Given the description of an element on the screen output the (x, y) to click on. 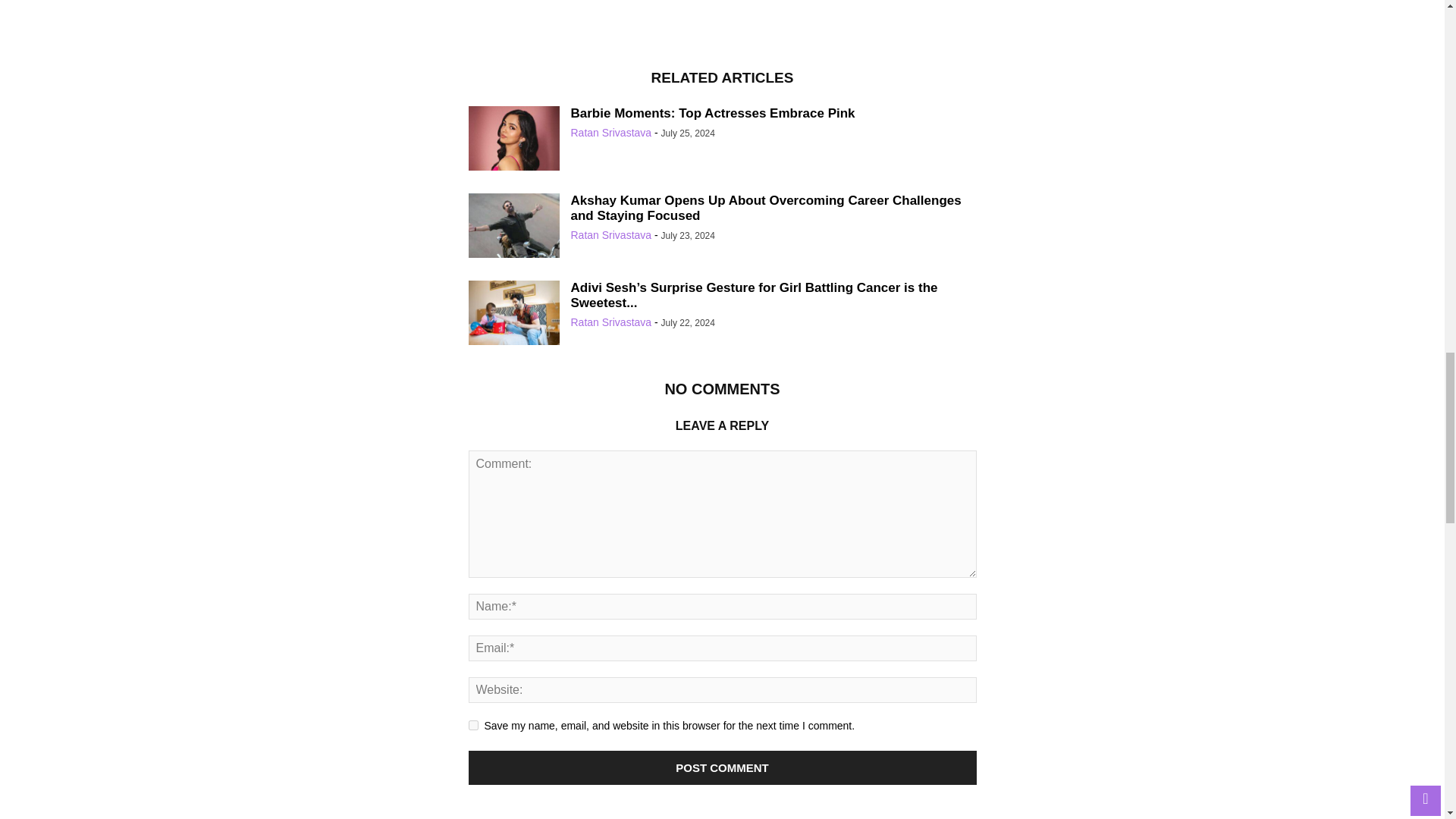
3rd party ad content (722, 24)
Barbie Moments: Top Actresses Embrace Pink (712, 113)
Post Comment (722, 767)
Barbie Moments: Top Actresses Embrace Pink (513, 140)
Ratan Srivastava (610, 322)
Ratan Srivastava (610, 234)
yes (473, 725)
Post Comment (722, 767)
Ratan Srivastava (610, 132)
